Given the description of an element on the screen output the (x, y) to click on. 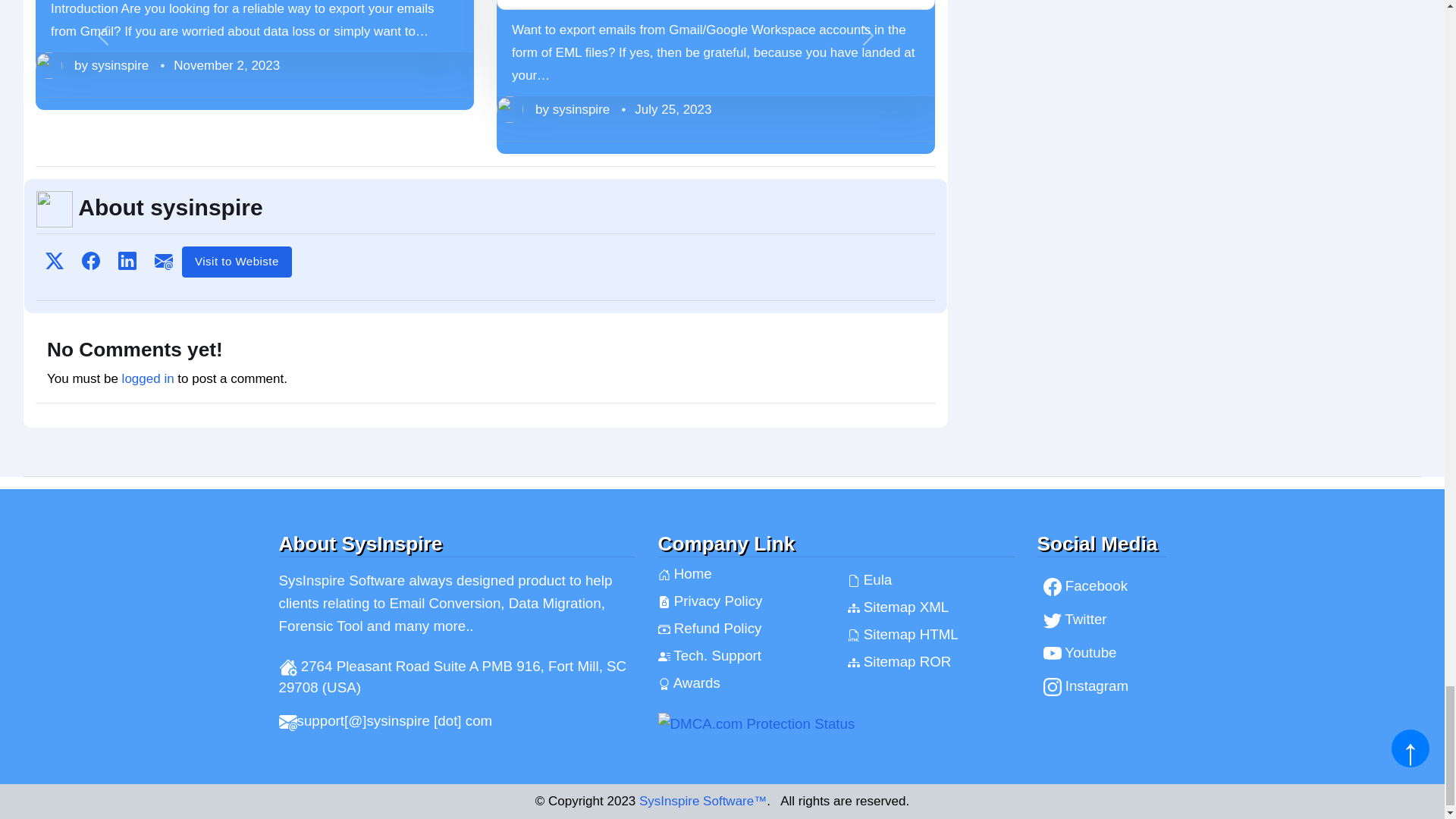
DMCA.com Protection Status (835, 723)
